Given the description of an element on the screen output the (x, y) to click on. 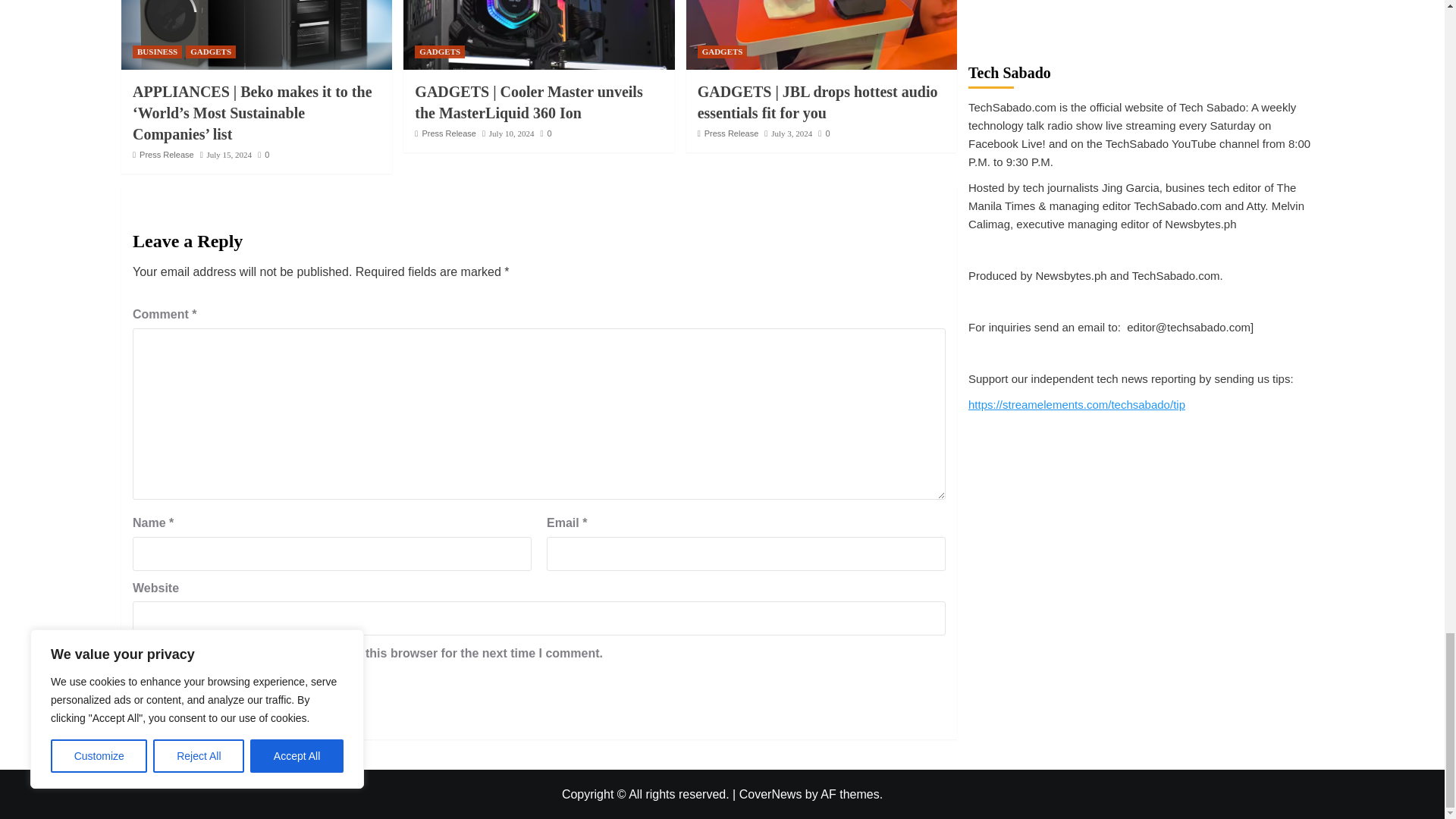
Post Comment (191, 703)
yes (137, 653)
